Given the description of an element on the screen output the (x, y) to click on. 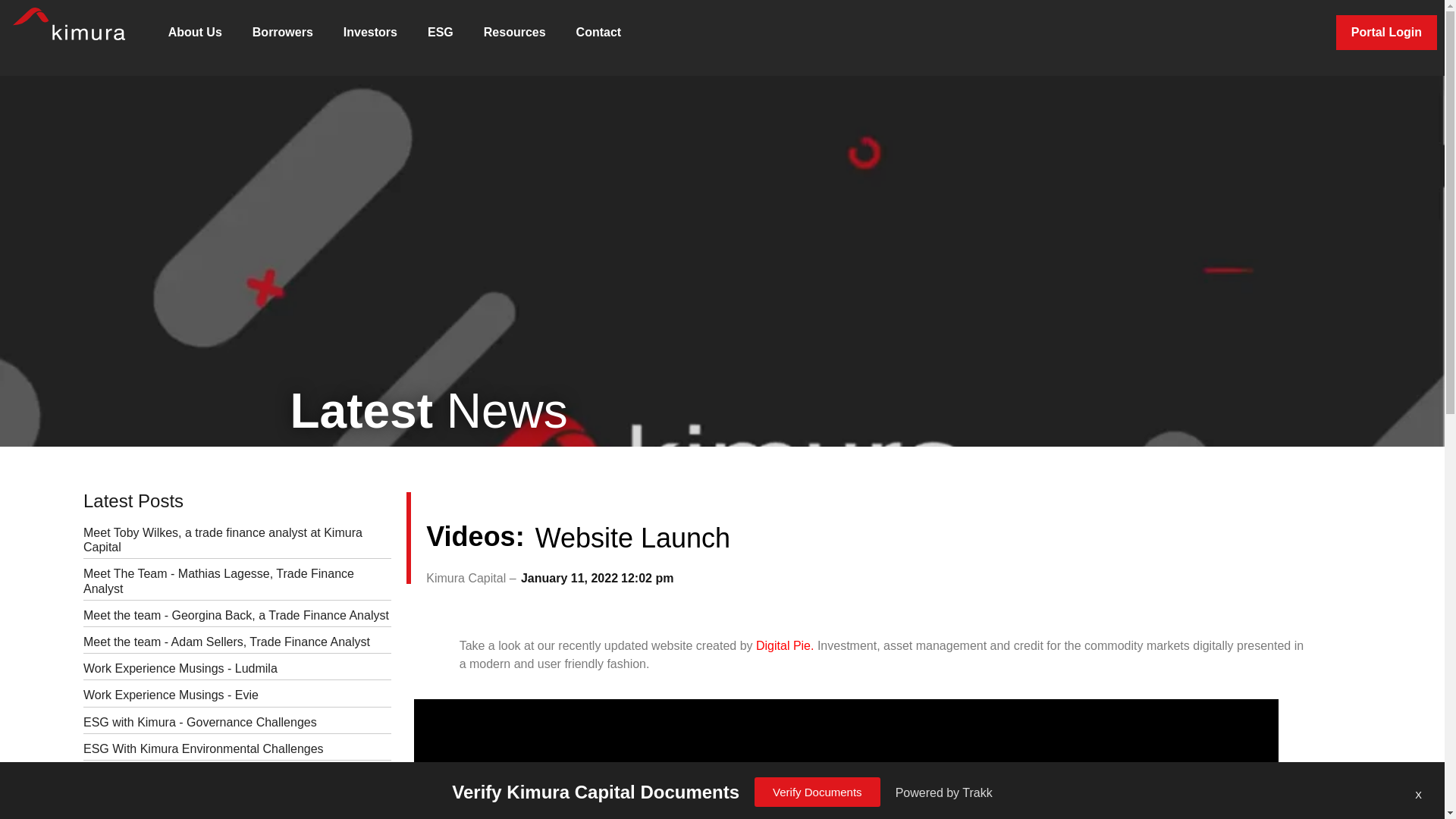
About Us (194, 32)
Resources (514, 32)
vimeo Video Player (845, 759)
Investors (370, 32)
Portal Login (1386, 32)
Borrowers (283, 32)
ESG (440, 32)
Contact (598, 32)
